Given the description of an element on the screen output the (x, y) to click on. 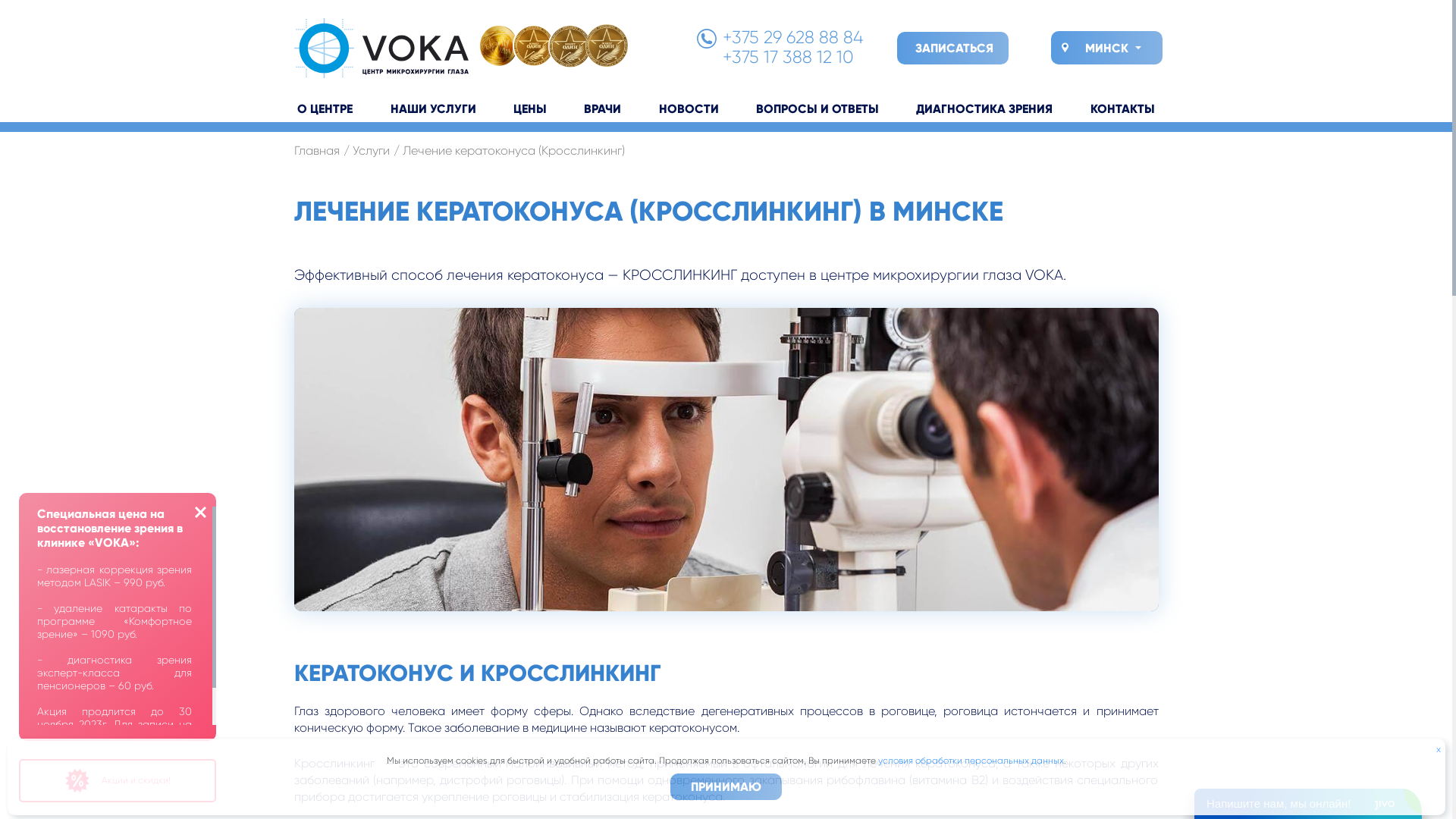
+375 29 628 88 84 Element type: text (791, 37)
+375 17 388 12 10 Element type: text (787, 57)
